Given the description of an element on the screen output the (x, y) to click on. 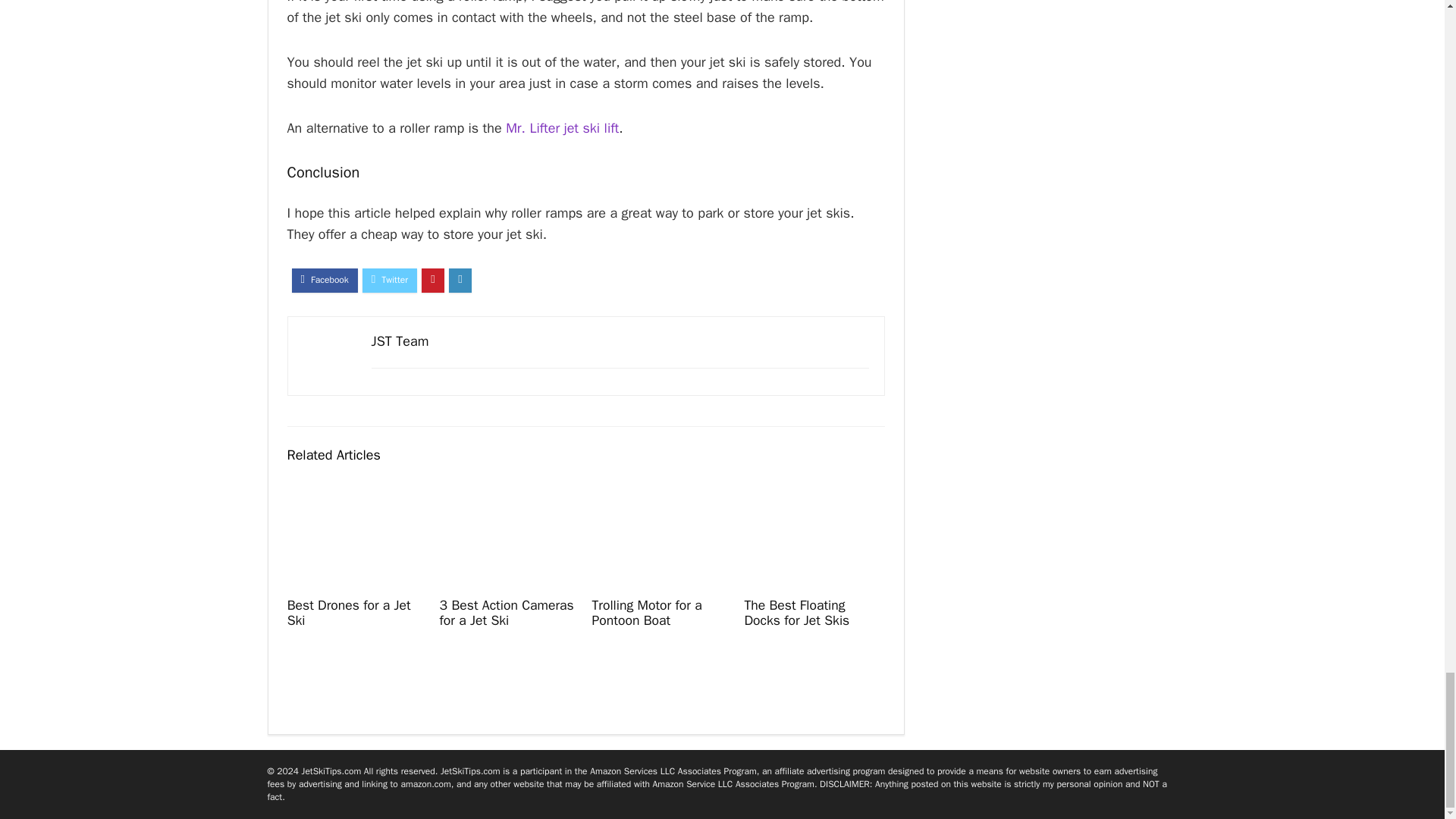
Mr. Lifter jet ski lift (561, 127)
The Best Floating Docks for Jet Skis (796, 612)
Trolling Motor for a Pontoon Boat (646, 612)
JST Team (400, 340)
3 Best Action Cameras for a Jet Ski (506, 612)
Best Drones for a Jet Ski (348, 612)
